Given the description of an element on the screen output the (x, y) to click on. 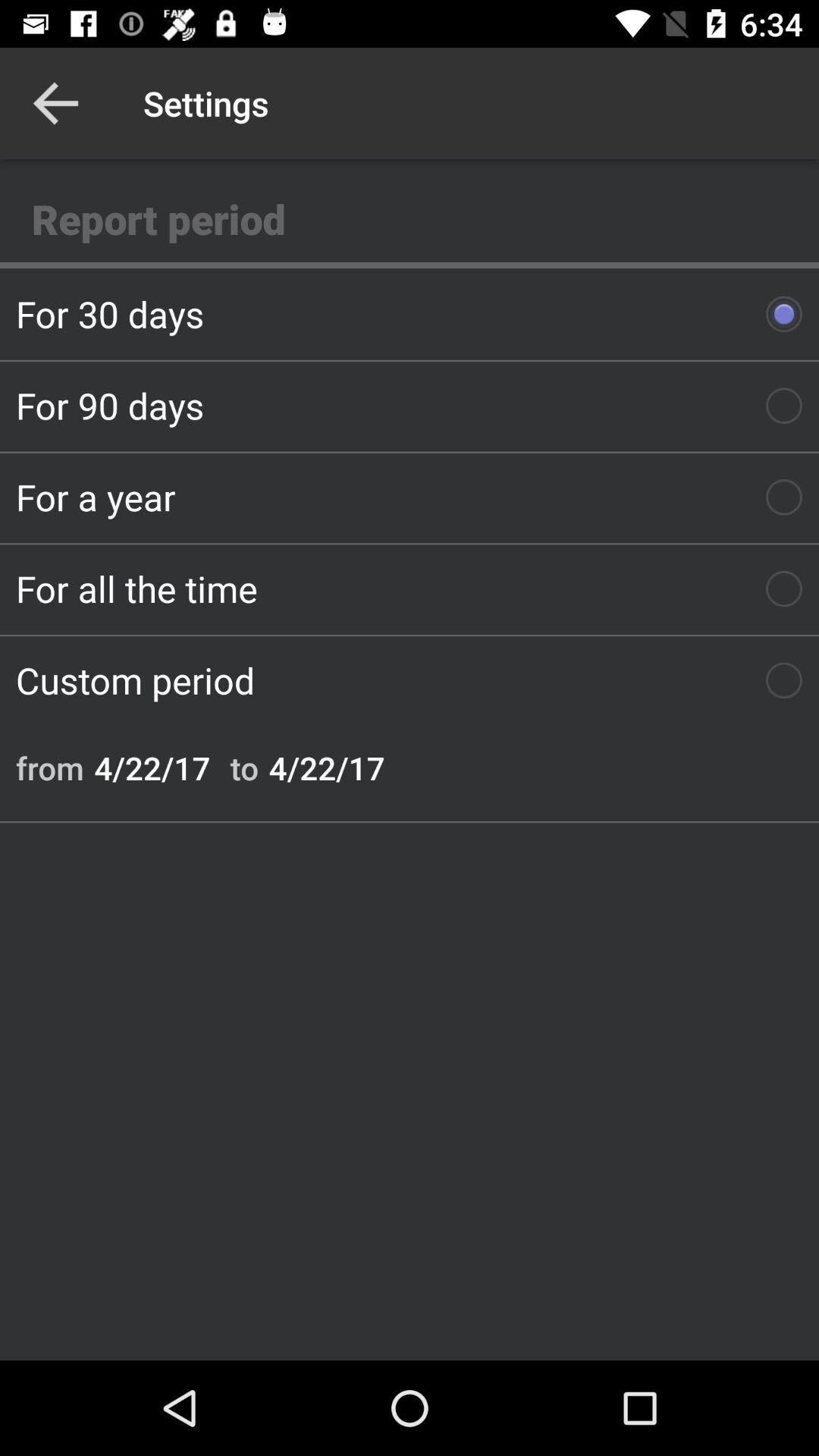
press the item above report period icon (55, 103)
